Given the description of an element on the screen output the (x, y) to click on. 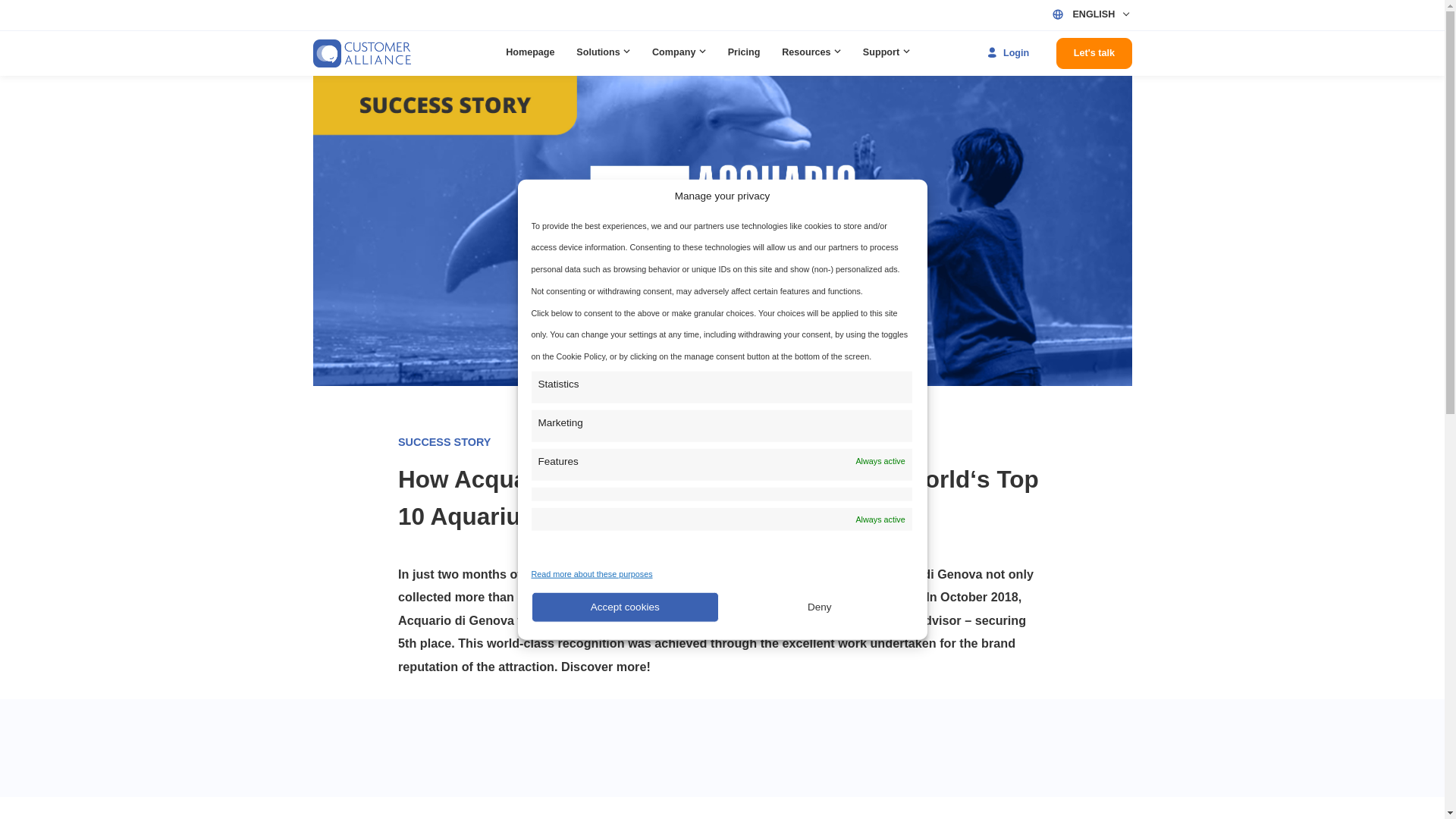
Resources (902, 59)
Pricing (826, 59)
Deny (910, 674)
Solutions (670, 59)
Solutions (670, 59)
Company (754, 59)
Homepage (589, 59)
Accept cookies (693, 674)
Read more about these purposes (657, 637)
Company (754, 59)
ENGLISH (1224, 16)
Homepage (589, 59)
